Given the description of an element on the screen output the (x, y) to click on. 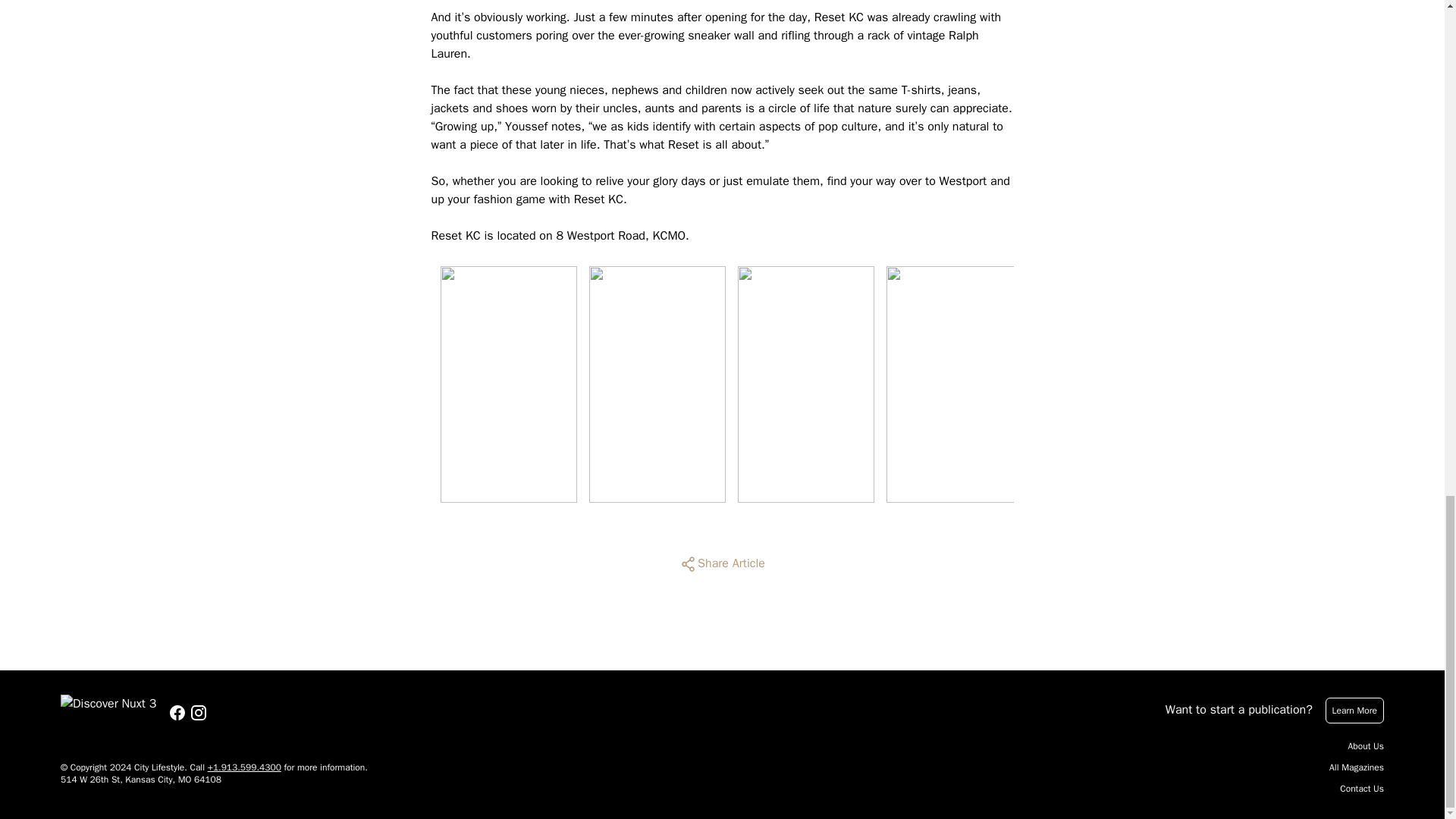
Contact Us (1361, 788)
About Us (1366, 746)
All Magazines (1356, 767)
Learn More (1354, 710)
Share Article (722, 563)
